Given the description of an element on the screen output the (x, y) to click on. 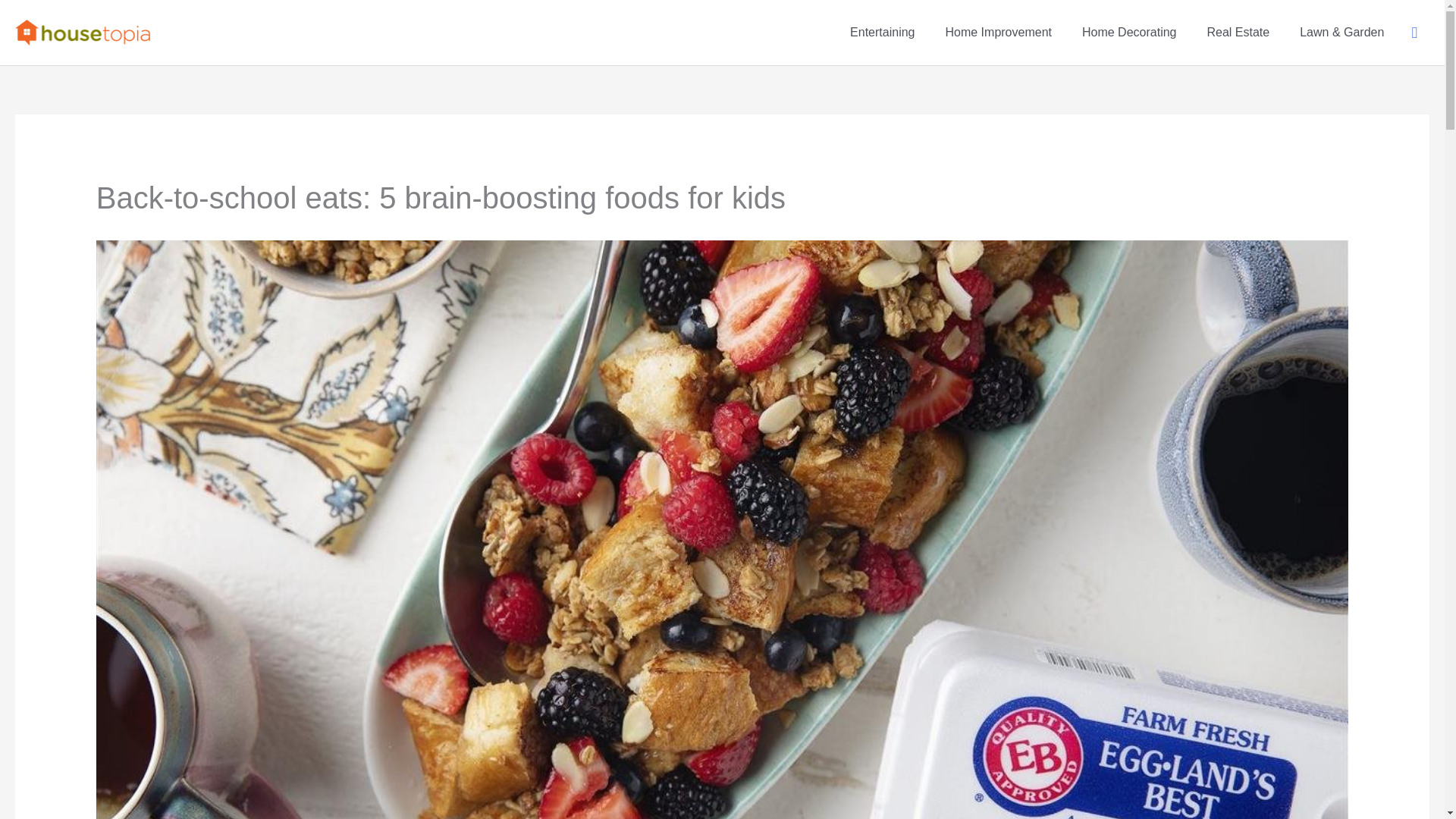
Home Decorating (1129, 32)
Home Improvement (998, 32)
Real Estate (1237, 32)
Entertaining (882, 32)
